Given the description of an element on the screen output the (x, y) to click on. 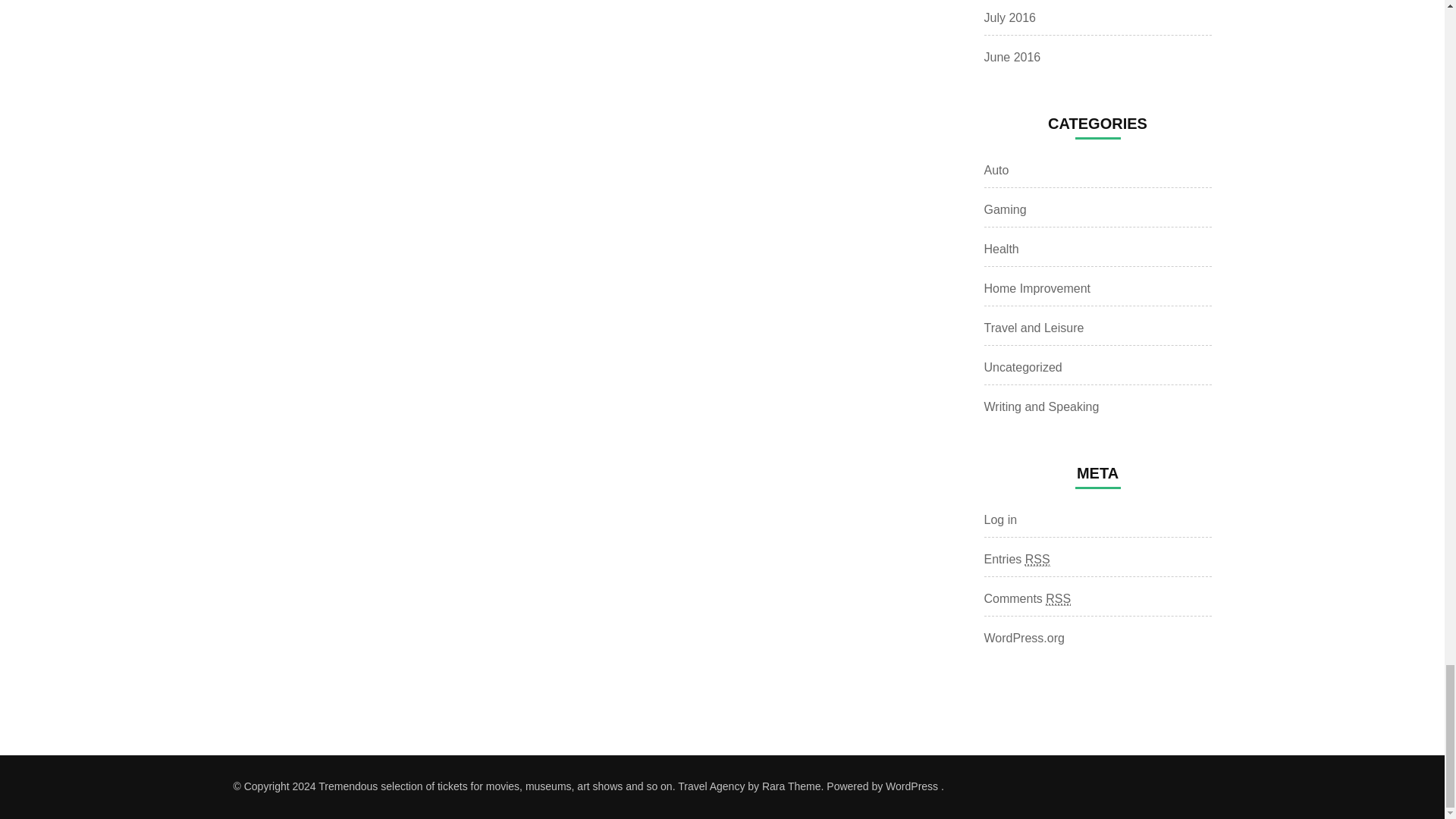
Health Category (1001, 248)
Travel and Leisure Category (1034, 327)
Auto Category (996, 169)
Really Simple Syndication (1037, 559)
Home Improvement Category (1037, 287)
Really Simple Syndication (1057, 599)
Writing and Speaking Category (1041, 406)
Gaming Category (1005, 209)
